Given the description of an element on the screen output the (x, y) to click on. 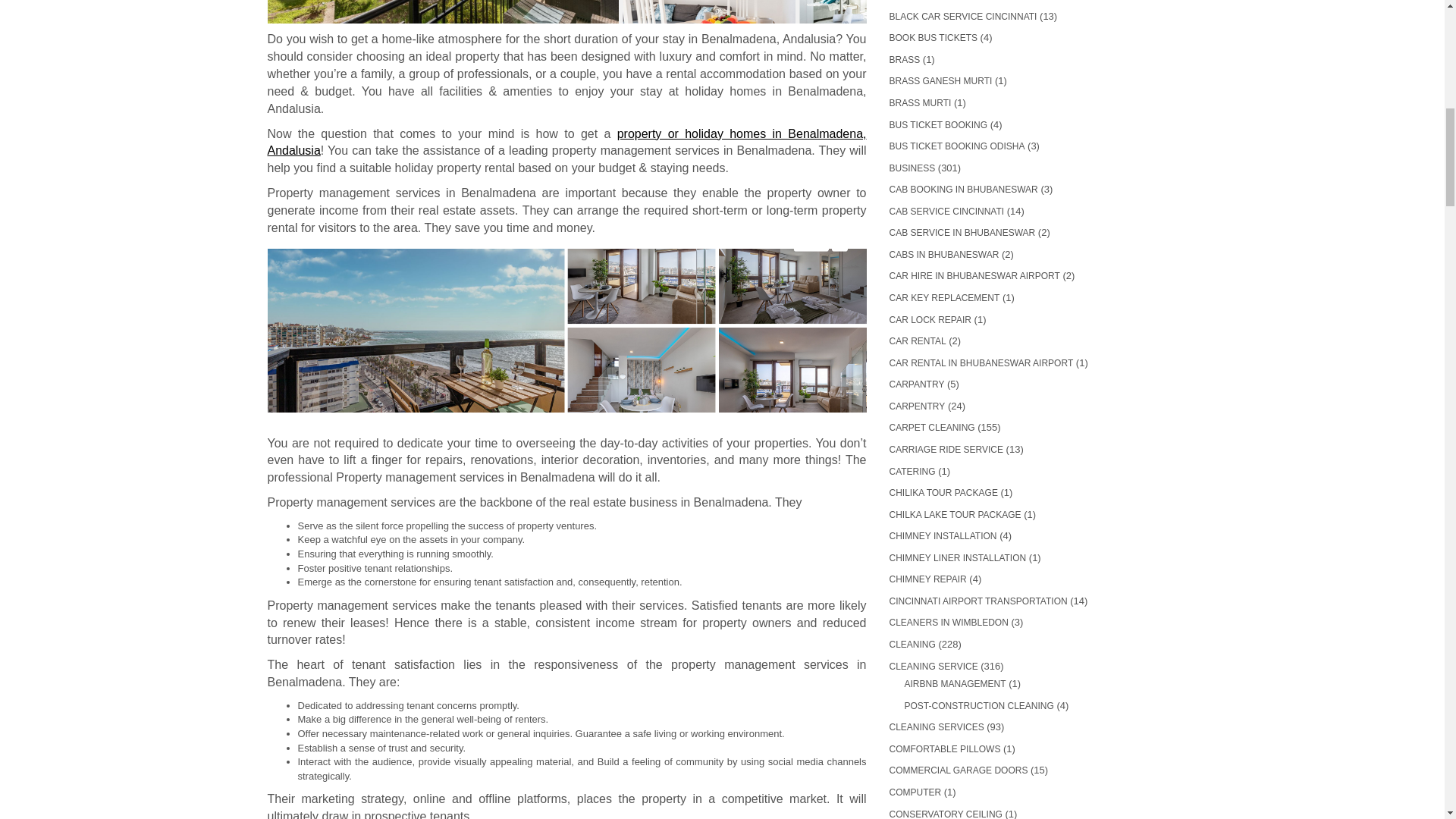
property or holiday homes in Benalmadena, Andalusia (566, 142)
